Given the description of an element on the screen output the (x, y) to click on. 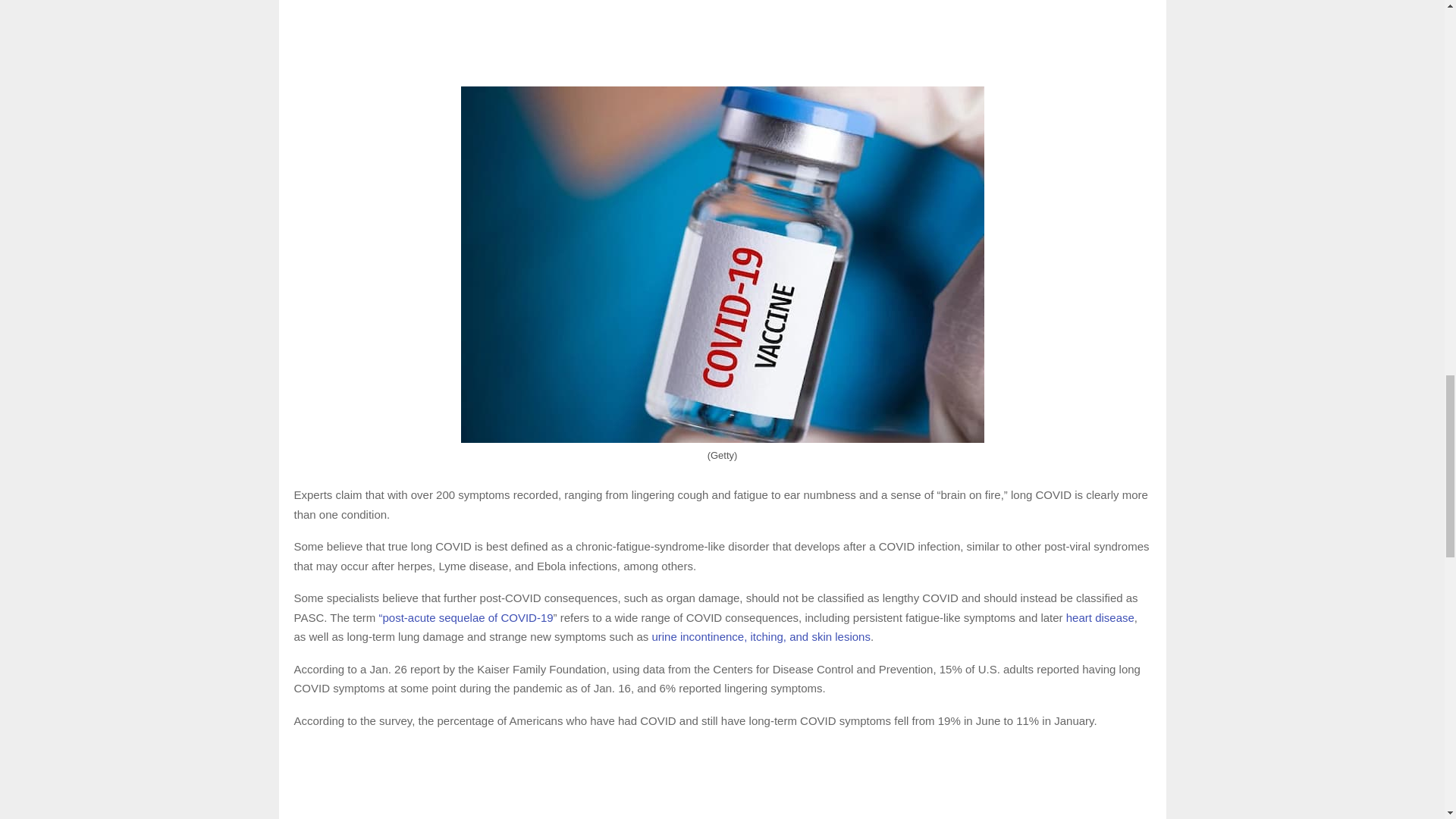
Advertisement (722, 40)
urine incontinence, itching, and skin lesions (760, 635)
heart disease (1099, 617)
Advertisement (722, 780)
